Given the description of an element on the screen output the (x, y) to click on. 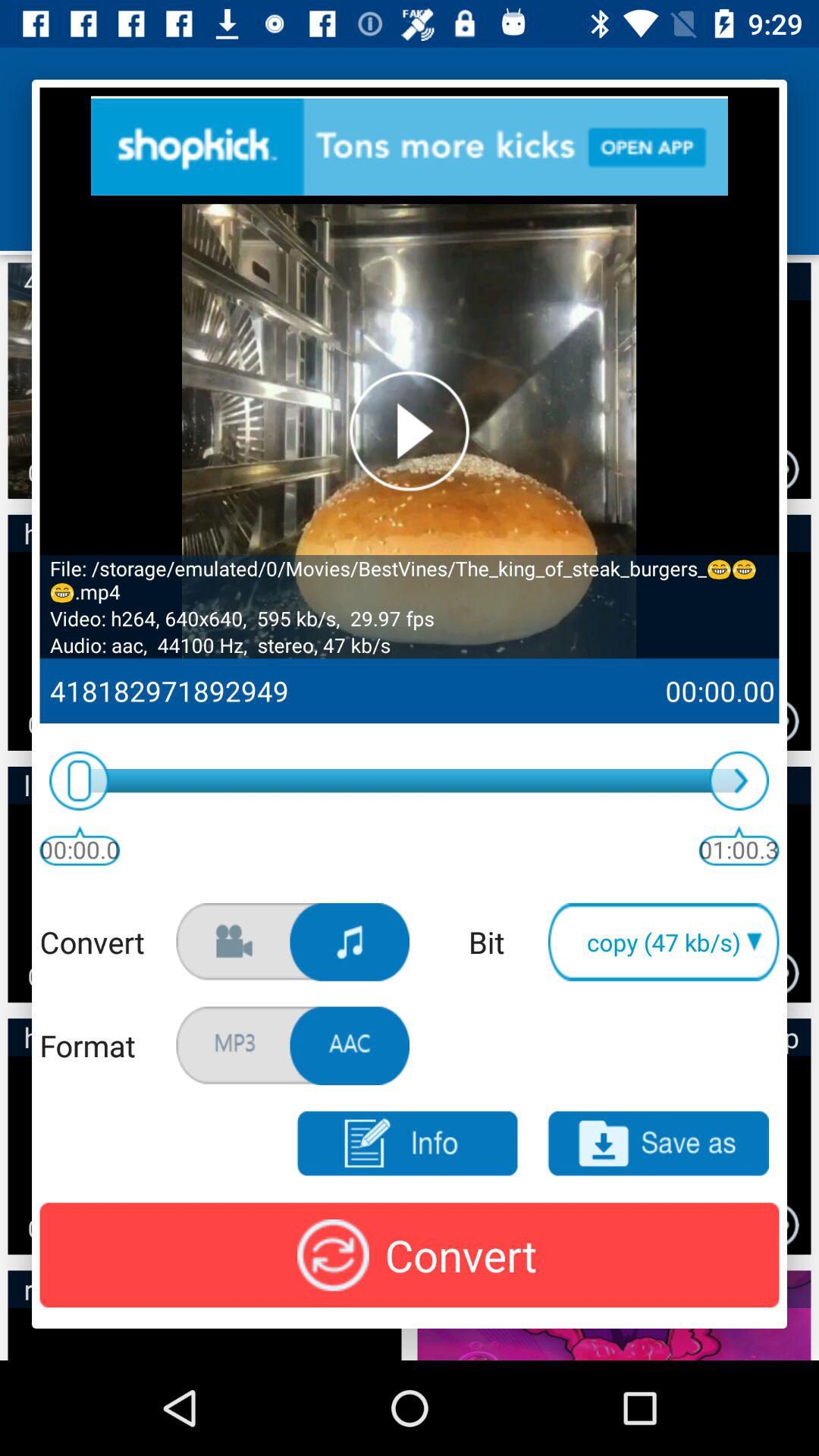
advertisement (409, 145)
